Given the description of an element on the screen output the (x, y) to click on. 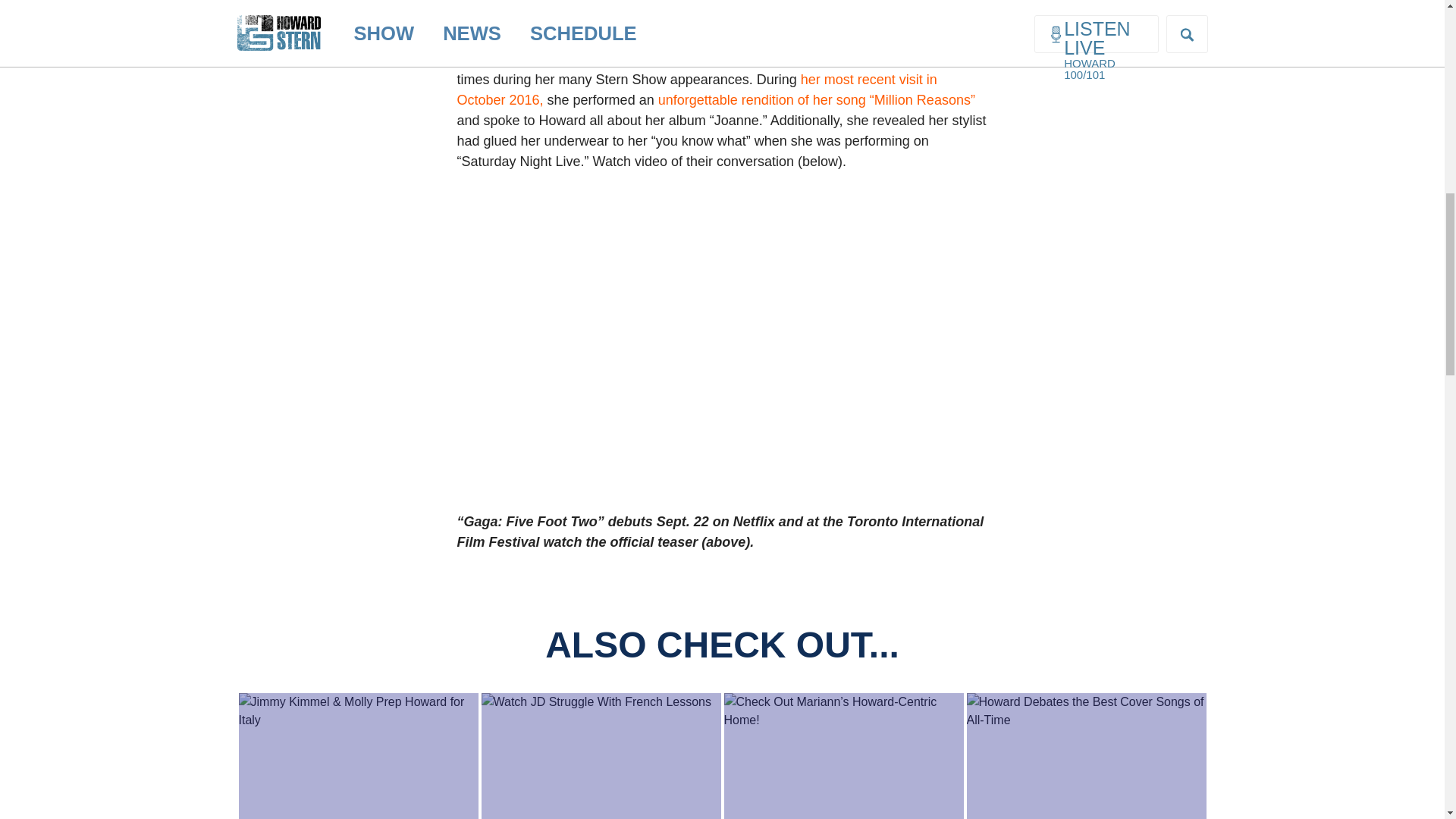
her most recent visit in October 2016, (696, 89)
